Given the description of an element on the screen output the (x, y) to click on. 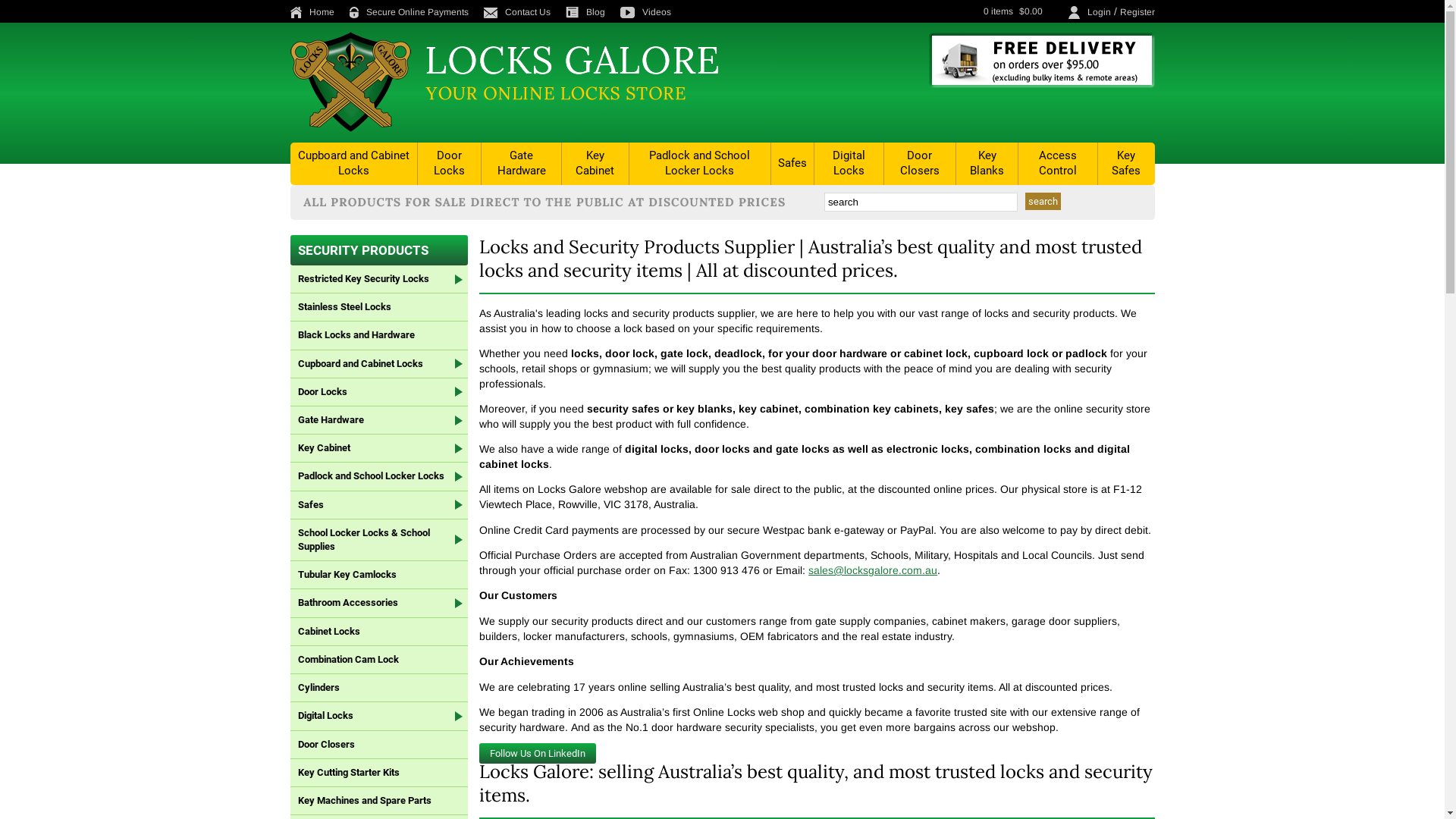
Black Locks and Hardware Element type: text (378, 335)
Digital Locks Element type: text (378, 716)
Key Cabinet Element type: text (378, 448)
Gate Hardware Element type: text (378, 420)
Door Locks Element type: text (448, 163)
Combination Cam Lock Element type: text (378, 660)
Digital Locks Element type: text (848, 163)
Restricted Key Security Locks Element type: text (378, 279)
sales@locksgalore.com.au Element type: text (872, 570)
Safes Element type: text (792, 163)
Stainless Steel Locks Element type: text (378, 307)
Contact Us Element type: text (522, 11)
Cabinet Locks Element type: text (378, 632)
Cupboard and Cabinet Locks Element type: text (354, 163)
Login Element type: text (1098, 11)
search Element type: text (1042, 201)
Access Control Element type: text (1057, 163)
Register Element type: text (1136, 11)
Key Safes Element type: text (1126, 163)
Videos Element type: text (651, 11)
Door Locks Element type: text (378, 392)
Door Closers Element type: text (919, 163)
Key Cutting Starter Kits Element type: text (378, 773)
Cupboard and Cabinet Locks Element type: text (378, 364)
Blog Element type: text (591, 11)
Key Machines and Spare Parts Element type: text (378, 801)
Safes Element type: text (378, 505)
Key Cabinet Element type: text (594, 163)
Padlock and School Locker Locks Element type: text (378, 476)
Tubular Key Camlocks Element type: text (378, 575)
Door Closers Element type: text (378, 745)
Follow Us On LinkedIn Element type: text (537, 753)
Bathroom Accessories Element type: text (378, 603)
Key Blanks Element type: text (986, 163)
School Locker Locks & School Supplies Element type: text (378, 540)
Secure Online Payments Element type: text (414, 11)
Home Element type: text (317, 11)
Gate Hardware Element type: text (521, 163)
Cylinders Element type: text (378, 688)
search Element type: text (920, 201)
Padlock and School Locker Locks Element type: text (700, 163)
